Given the description of an element on the screen output the (x, y) to click on. 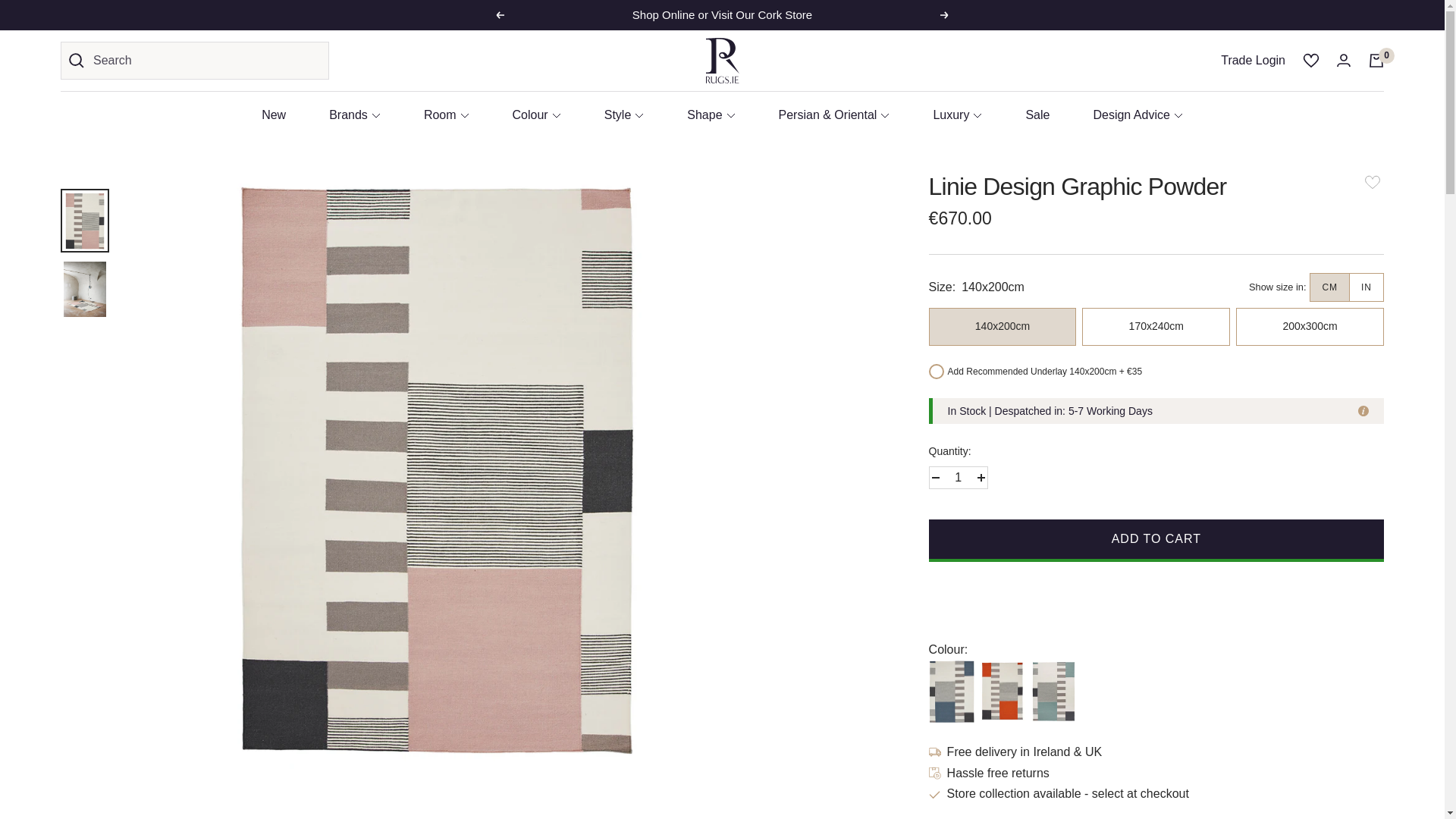
CM (1329, 287)
Previous (499, 14)
Trade Login (1253, 60)
Design Advice (1137, 115)
Next (944, 14)
Shape (711, 115)
Sale (1037, 115)
Luxury (957, 115)
1 (957, 477)
Brands (354, 115)
IN (1366, 287)
Room (445, 115)
0 (1376, 60)
